Given the description of an element on the screen output the (x, y) to click on. 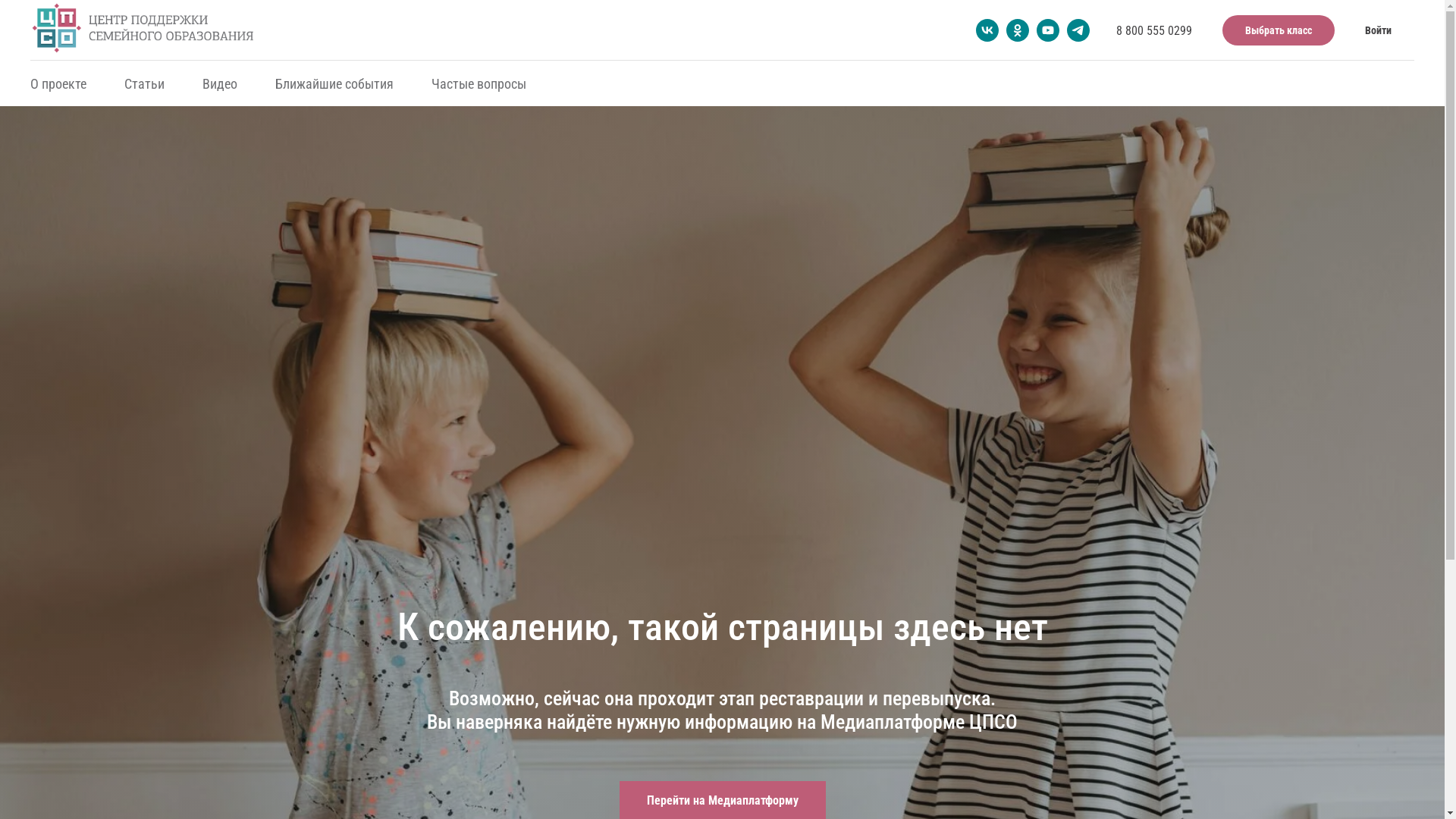
8 800 555 0299 Element type: text (1154, 29)
